Given the description of an element on the screen output the (x, y) to click on. 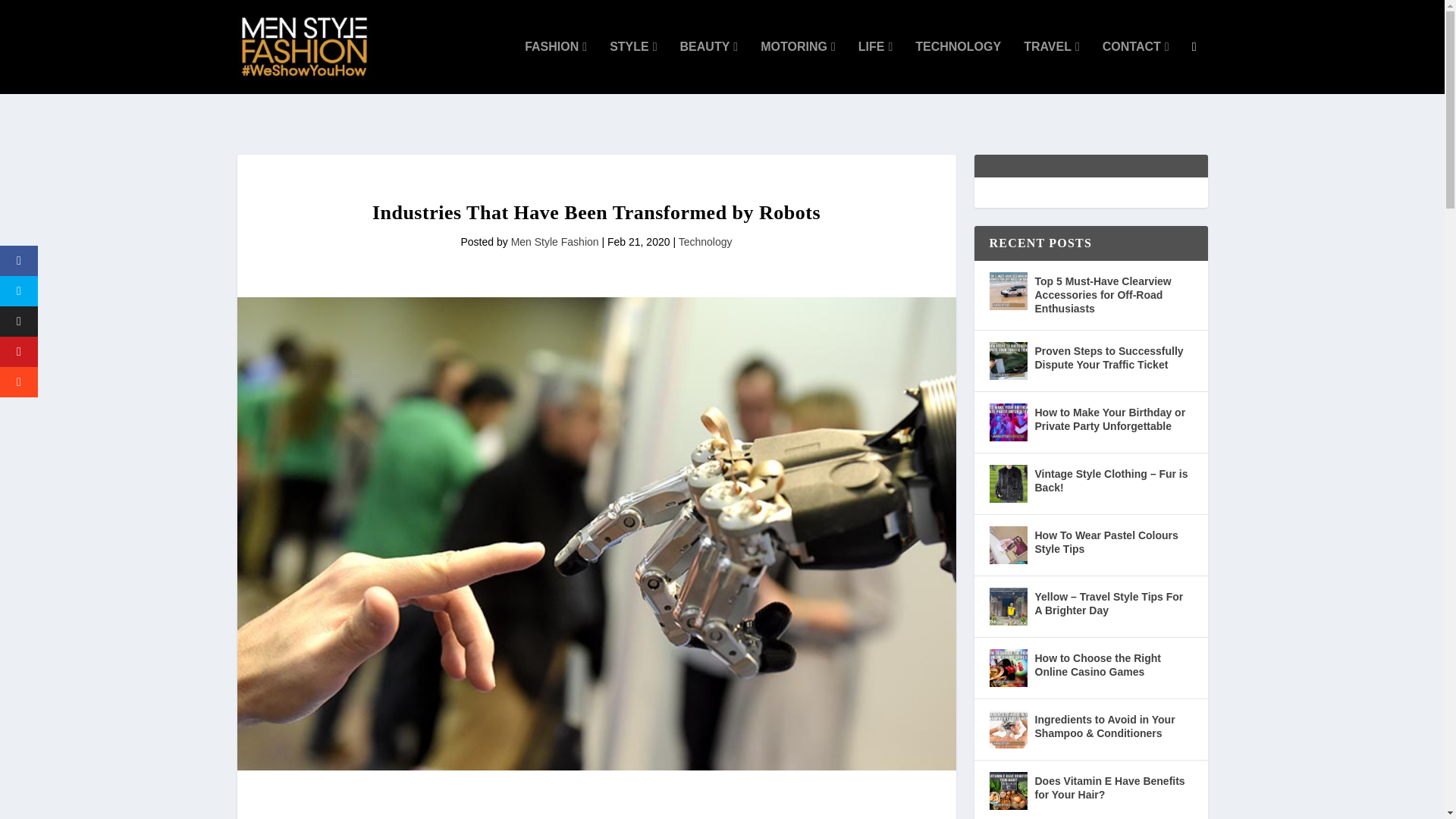
FASHION (555, 67)
How to Choose the Right Online Casino Games (1007, 668)
How to Make Your Birthday or Private Party Unforgettable (1007, 422)
MOTORING (797, 67)
Proven Steps to Successfully Dispute Your Traffic Ticket (1007, 361)
Posts by Men Style Fashion (554, 241)
BEAUTY (708, 67)
Does Vitamin E Have Benefits for Your Hair? (1007, 790)
How To Wear Pastel Colours Style Tips (1007, 545)
